Given the description of an element on the screen output the (x, y) to click on. 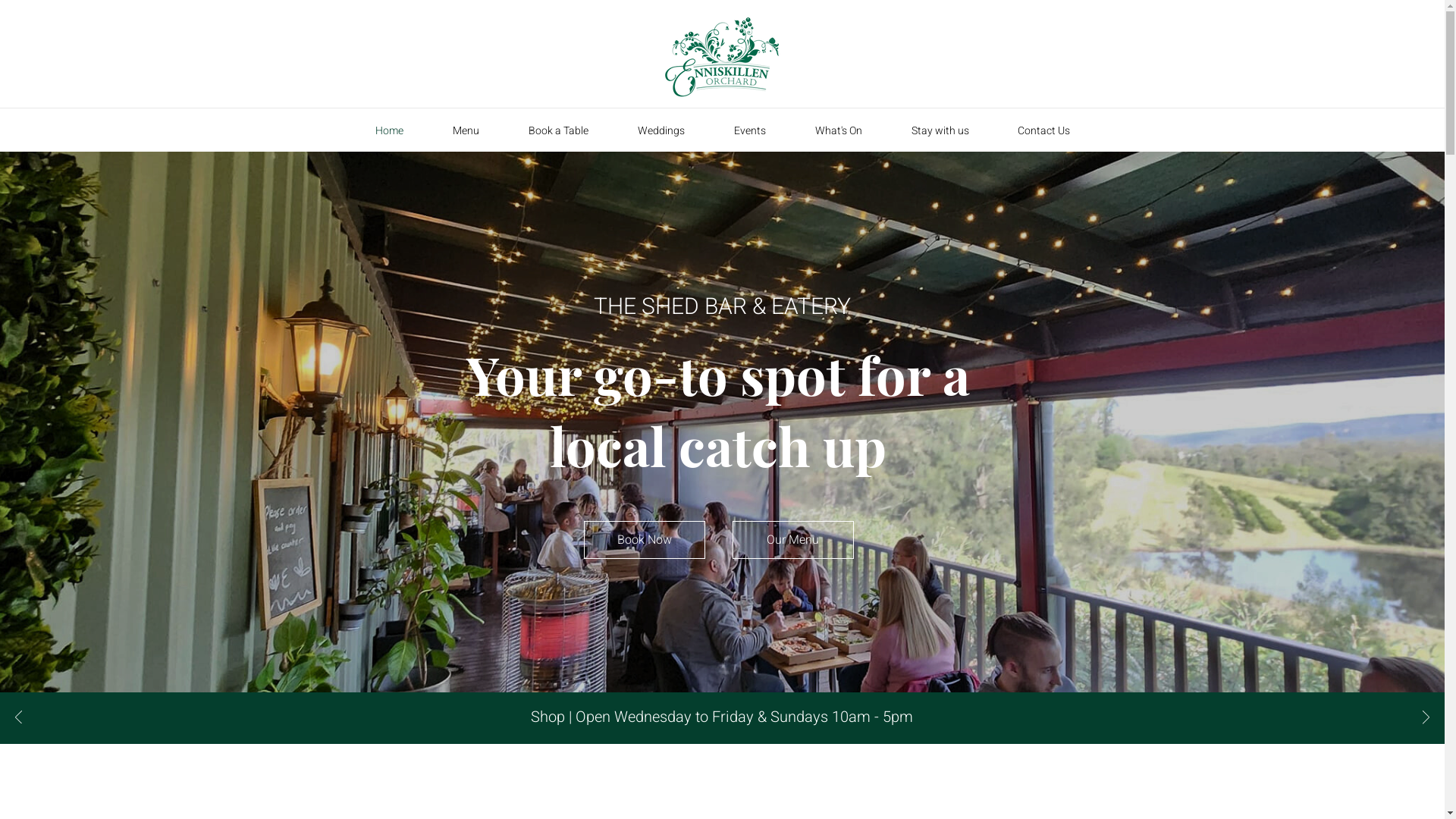
Book a Table Element type: text (557, 130)
Stay with us Element type: text (940, 130)
Events Element type: text (749, 130)
Menu Element type: text (465, 130)
Book Now Element type: text (644, 539)
Contact Us Element type: text (1043, 130)
What's On Element type: text (838, 130)
Weddings Element type: text (660, 130)
Our Menu Element type: text (792, 539)
Home Element type: text (388, 130)
